Given the description of an element on the screen output the (x, y) to click on. 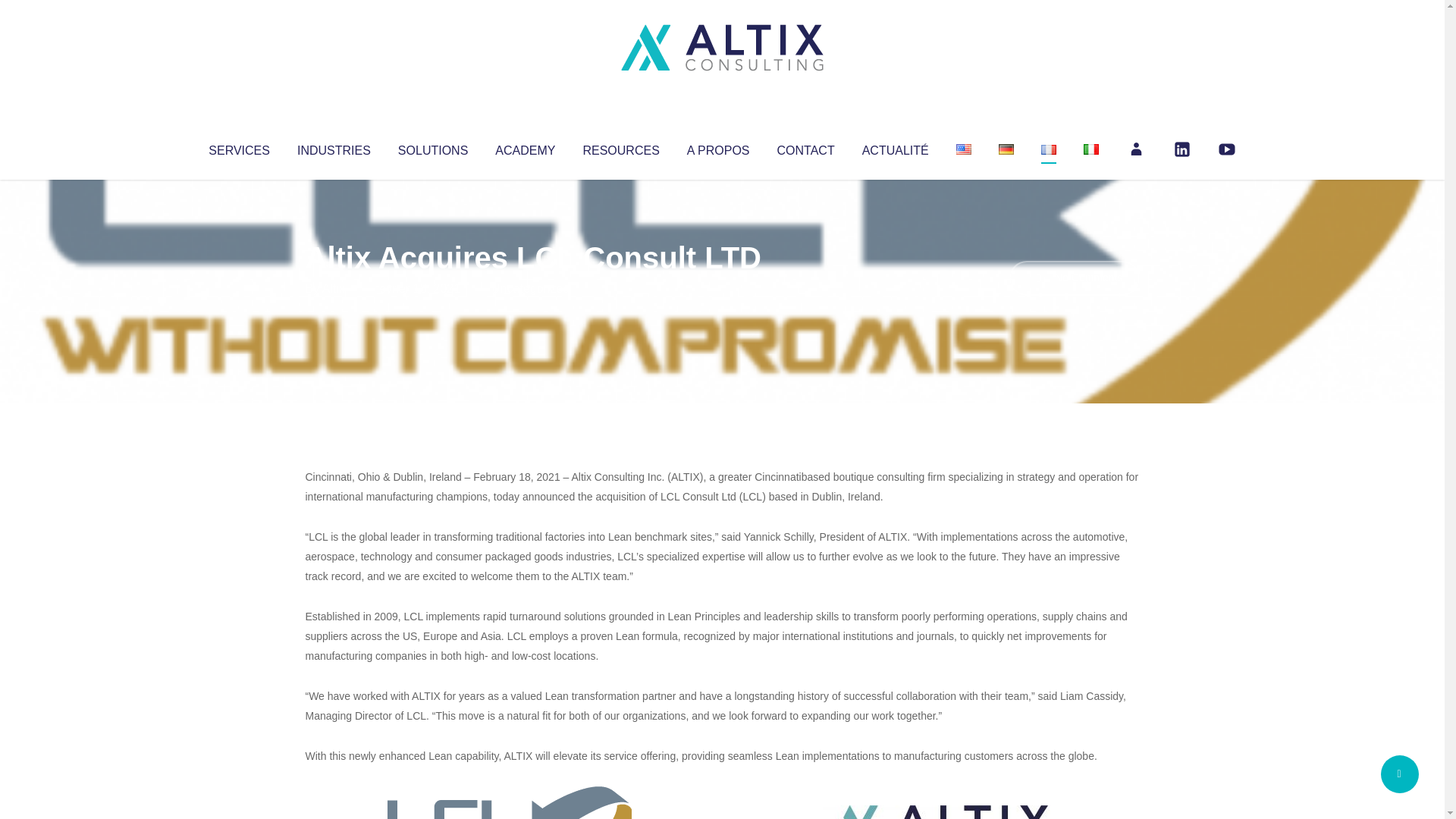
RESOURCES (620, 146)
SOLUTIONS (432, 146)
Uncategorized (530, 287)
Articles par Altix (333, 287)
Altix (333, 287)
ACADEMY (524, 146)
A PROPOS (718, 146)
INDUSTRIES (334, 146)
No Comments (1073, 278)
SERVICES (238, 146)
